Given the description of an element on the screen output the (x, y) to click on. 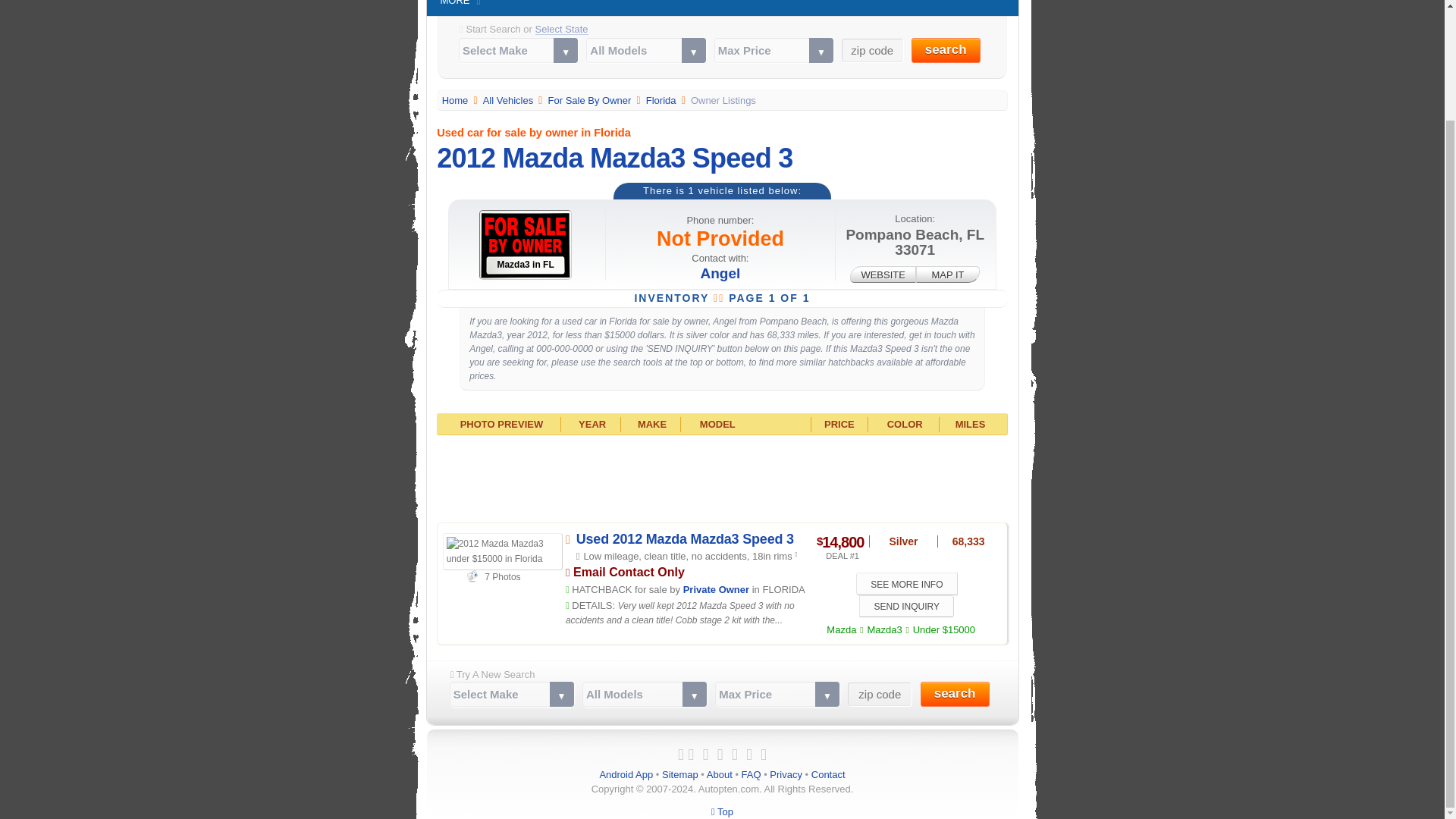
seller comments... (680, 613)
search (955, 693)
This link is disabled (882, 274)
Browse all cars listed in FL (662, 100)
Home (456, 100)
Florida (662, 100)
Autopten.com Home (456, 100)
Browse all used Mazda Mazda3 available (883, 629)
WEBSITE (882, 274)
MORE (454, 7)
